Given the description of an element on the screen output the (x, y) to click on. 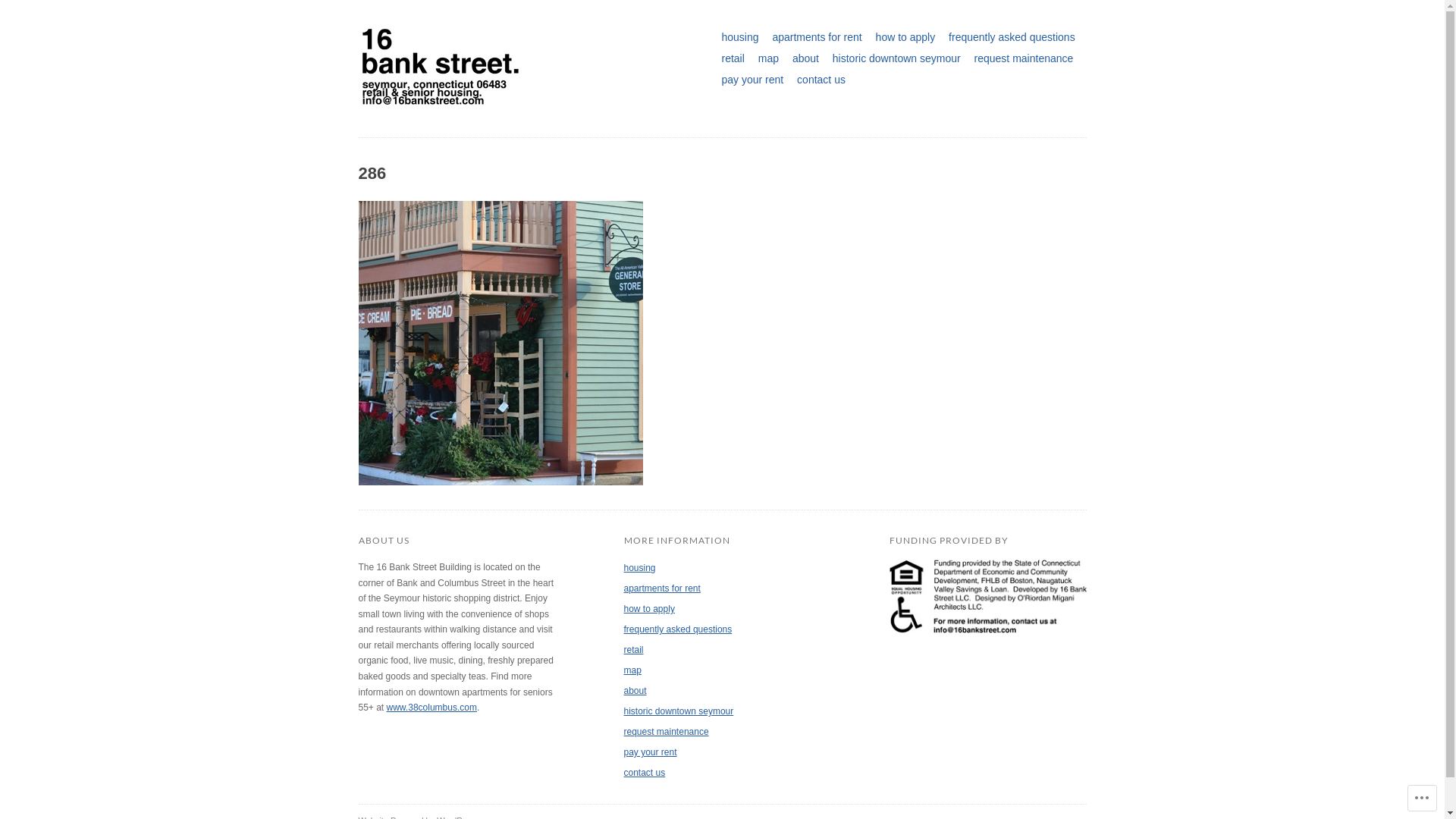
request maintenance Element type: text (1024, 58)
about Element type: text (805, 58)
apartments for rent Element type: text (661, 588)
contact us Element type: text (644, 772)
housing Element type: text (739, 36)
retail Element type: text (633, 649)
286 Element type: hover (499, 492)
contact us Element type: text (820, 79)
pay your rent Element type: text (751, 79)
www.38columbus.com Element type: text (431, 707)
pay your rent Element type: text (649, 751)
historic downtown seymour Element type: text (678, 711)
request maintenance Element type: text (665, 731)
how to apply Element type: text (648, 608)
about Element type: text (634, 690)
map Element type: text (631, 670)
frequently asked questions Element type: text (1011, 36)
retail Element type: text (732, 58)
apartments for rent Element type: text (816, 36)
how to apply Element type: text (905, 36)
map Element type: text (768, 58)
frequently asked questions Element type: text (677, 629)
historic downtown seymour Element type: text (896, 58)
housing Element type: text (639, 567)
